Given the description of an element on the screen output the (x, y) to click on. 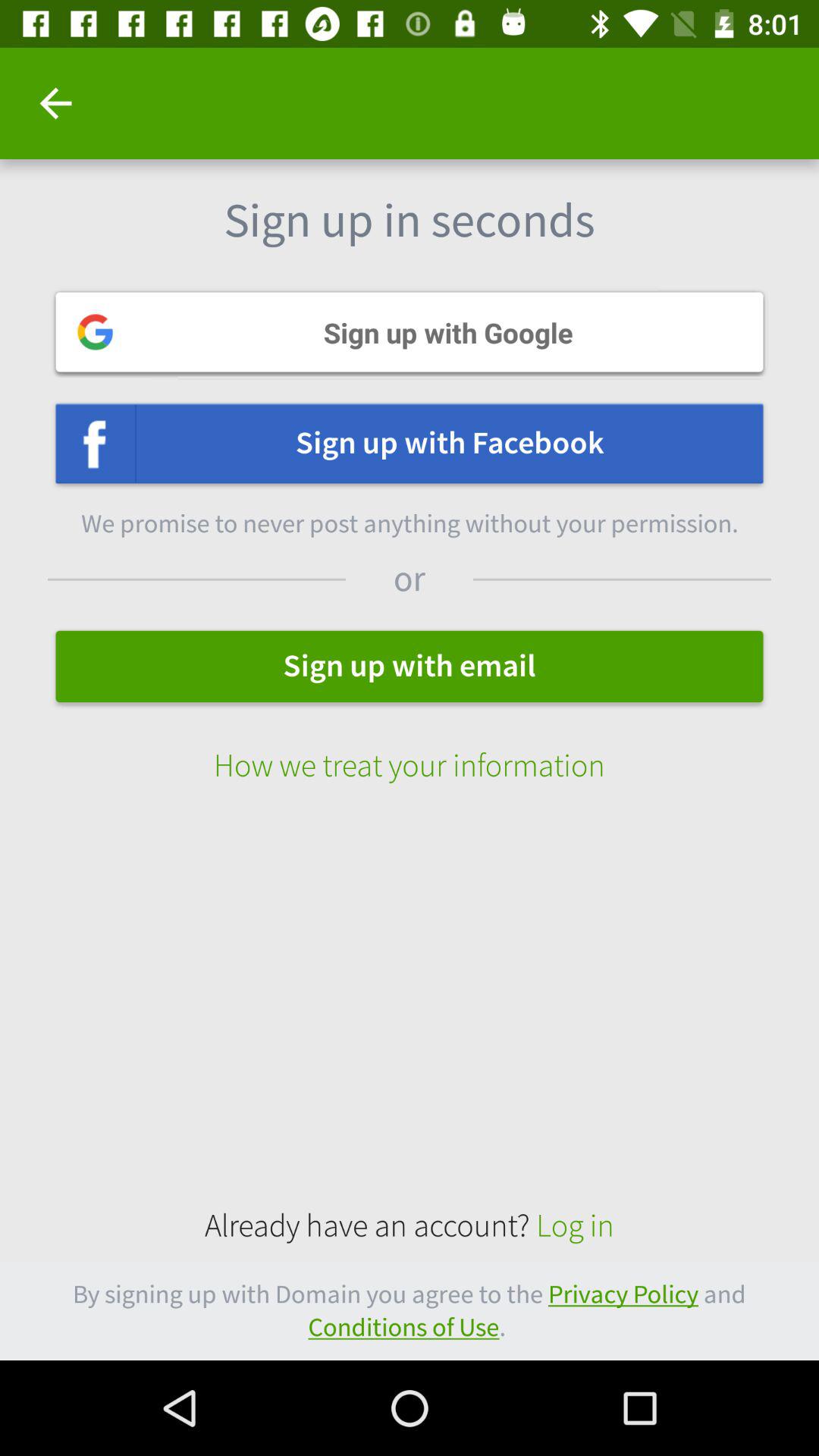
click item at the top left corner (55, 103)
